Given the description of an element on the screen output the (x, y) to click on. 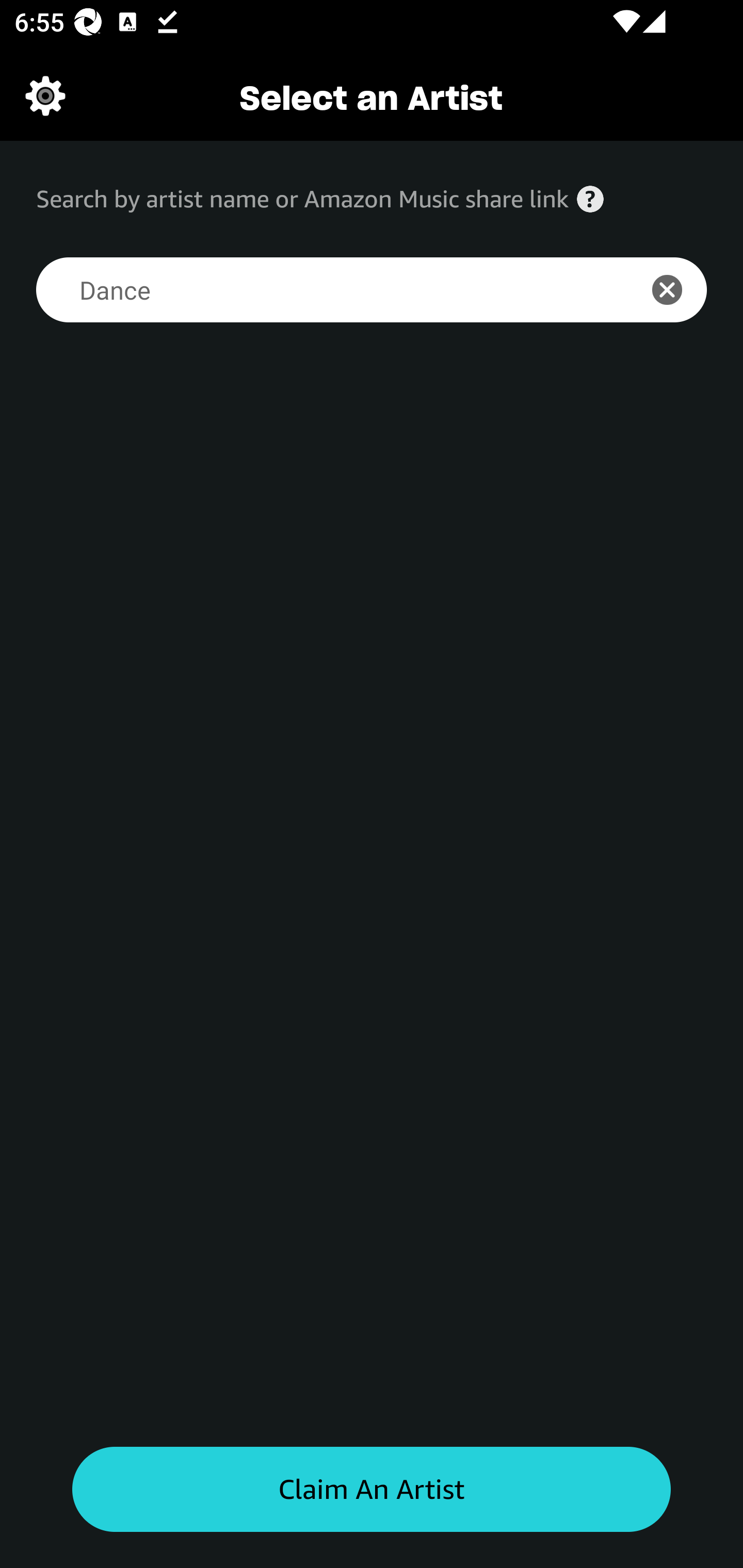
Help  icon (589, 199)
Dance Search for an artist search bar (324, 290)
 icon (677, 290)
Claim an artist button Claim An Artist (371, 1489)
